Given the description of an element on the screen output the (x, y) to click on. 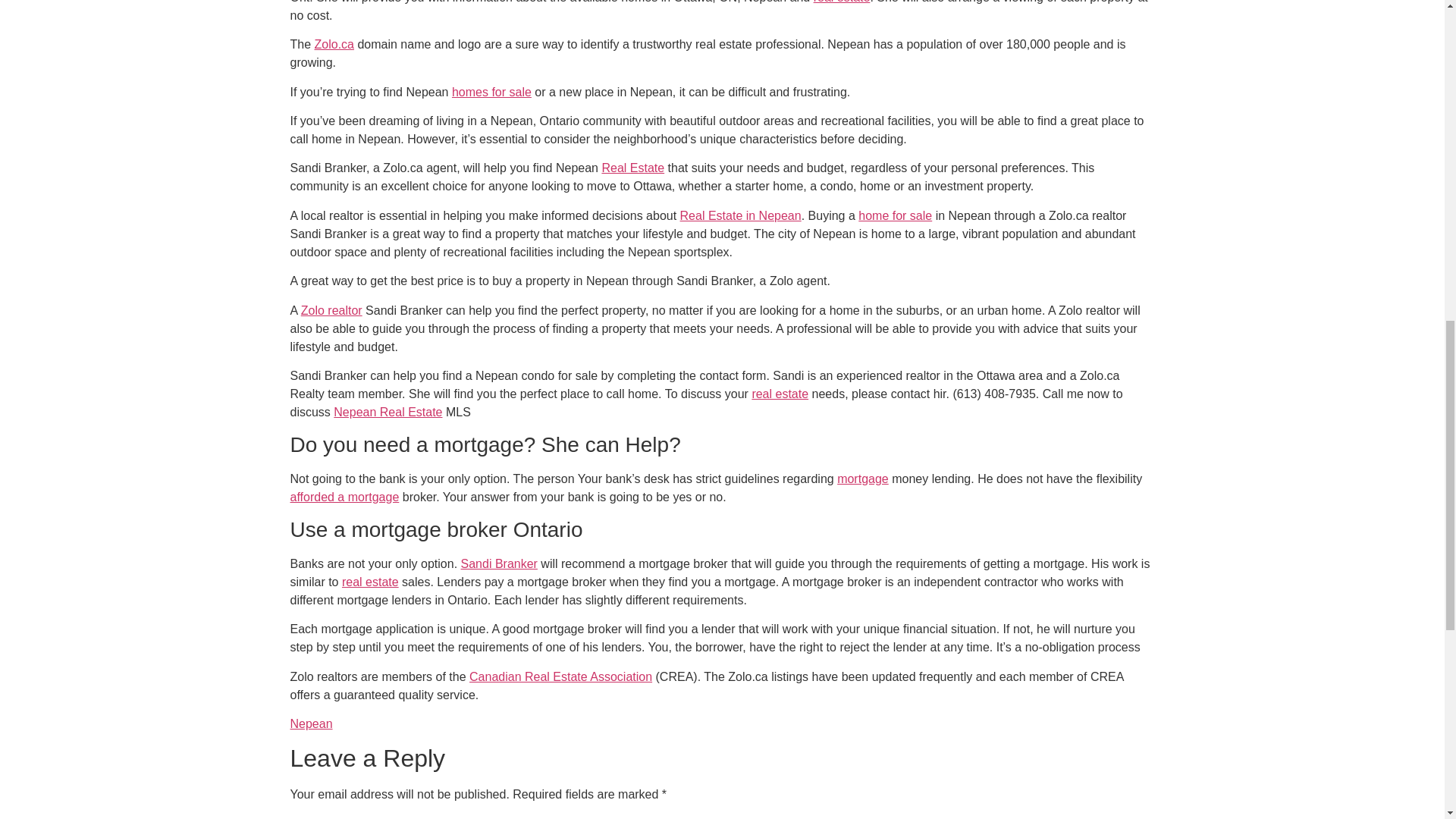
real estate (370, 581)
real estate (841, 2)
homes for sale (491, 91)
Canadian Real Estate Association (560, 676)
Zolo realtor (331, 309)
home for sale (895, 215)
Zolo.ca (333, 43)
Zolo.ca (333, 43)
Nepean Real Estate (387, 411)
afforded a mortgage (343, 496)
real estate (779, 393)
Sandi Branker (499, 563)
Zolo realtor (331, 309)
mortgage (862, 478)
Real Estate in Nepean (740, 215)
